Given the description of an element on the screen output the (x, y) to click on. 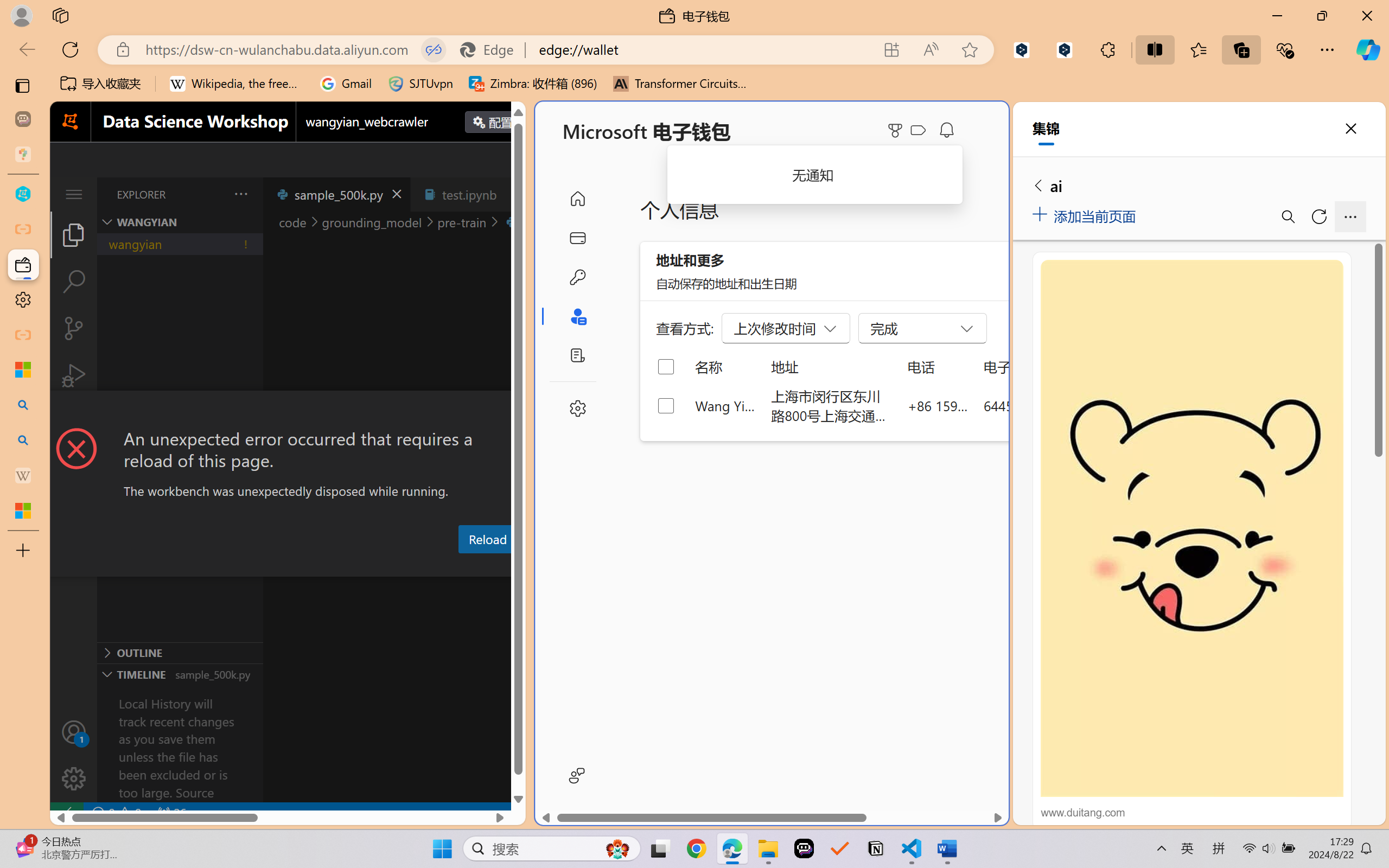
Reload (486, 538)
Terminal (Ctrl+`) (553, 565)
Source Control (Ctrl+Shift+G) (73, 328)
Search (Ctrl+Shift+F) (73, 281)
Explorer (Ctrl+Shift+E) (73, 234)
Outline Section (179, 652)
